Given the description of an element on the screen output the (x, y) to click on. 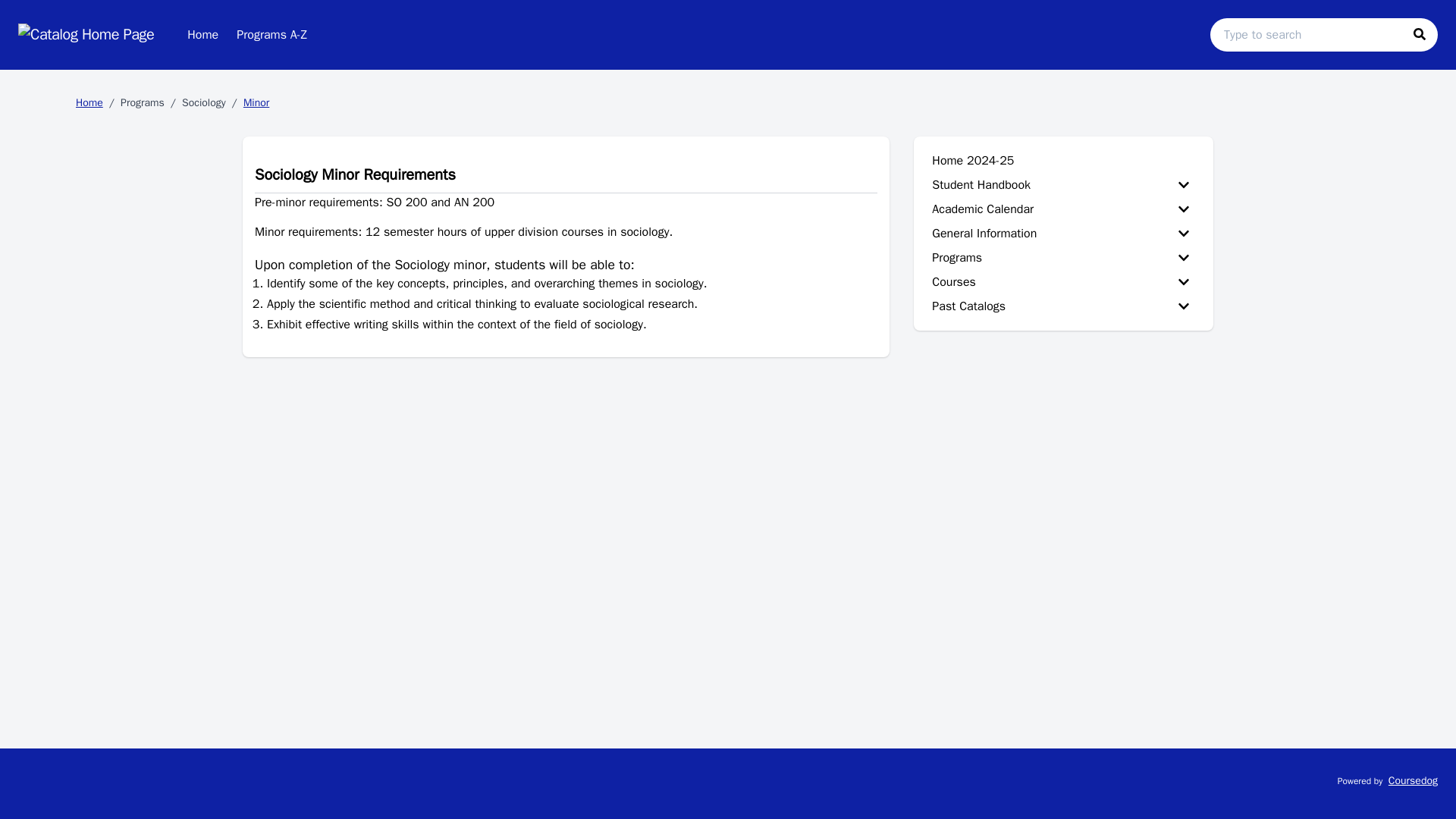
Home (202, 34)
Programs A-Z (271, 34)
Programs A-Z (271, 34)
Home (202, 34)
